Given the description of an element on the screen output the (x, y) to click on. 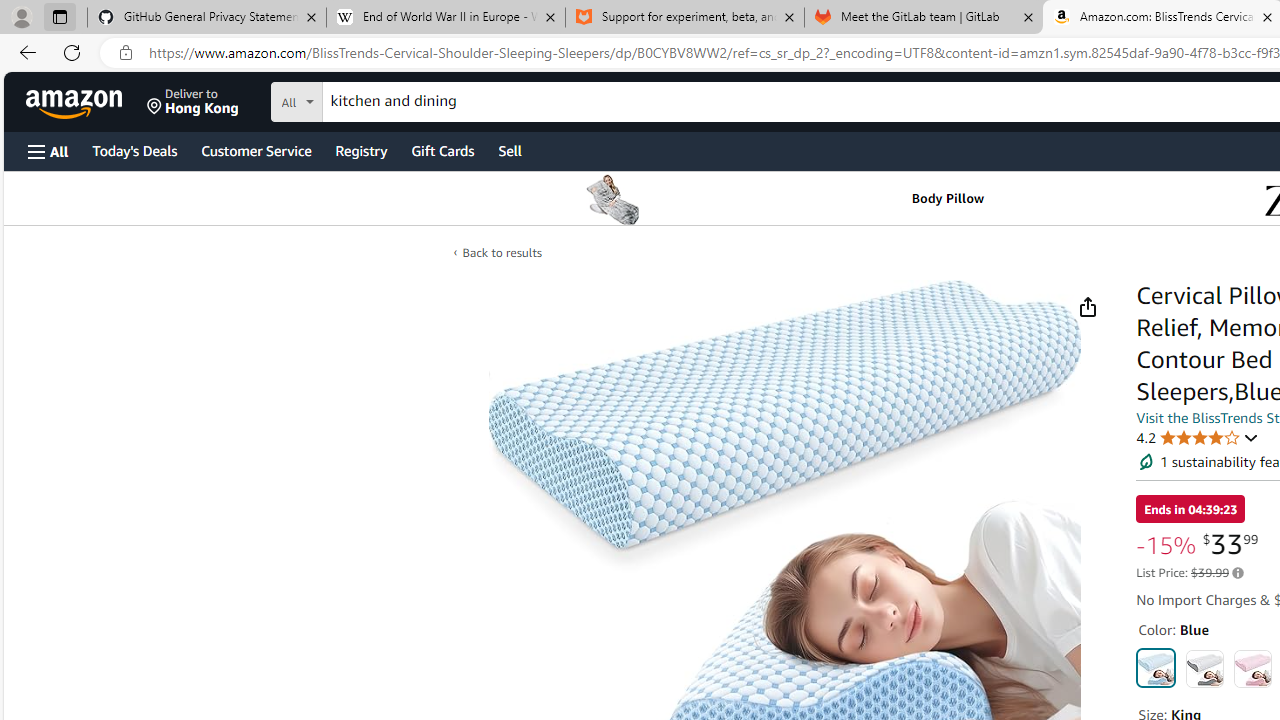
Sell (509, 150)
Meet the GitLab team | GitLab (924, 17)
Back to results (501, 251)
Open Menu (48, 151)
Pink (1252, 668)
Grey (1204, 668)
GitHub General Privacy Statement - GitHub Docs (207, 17)
Skip to main content (86, 100)
Blue (1156, 668)
Share (1087, 307)
Gift Cards (442, 150)
Blue (1156, 668)
